Given the description of an element on the screen output the (x, y) to click on. 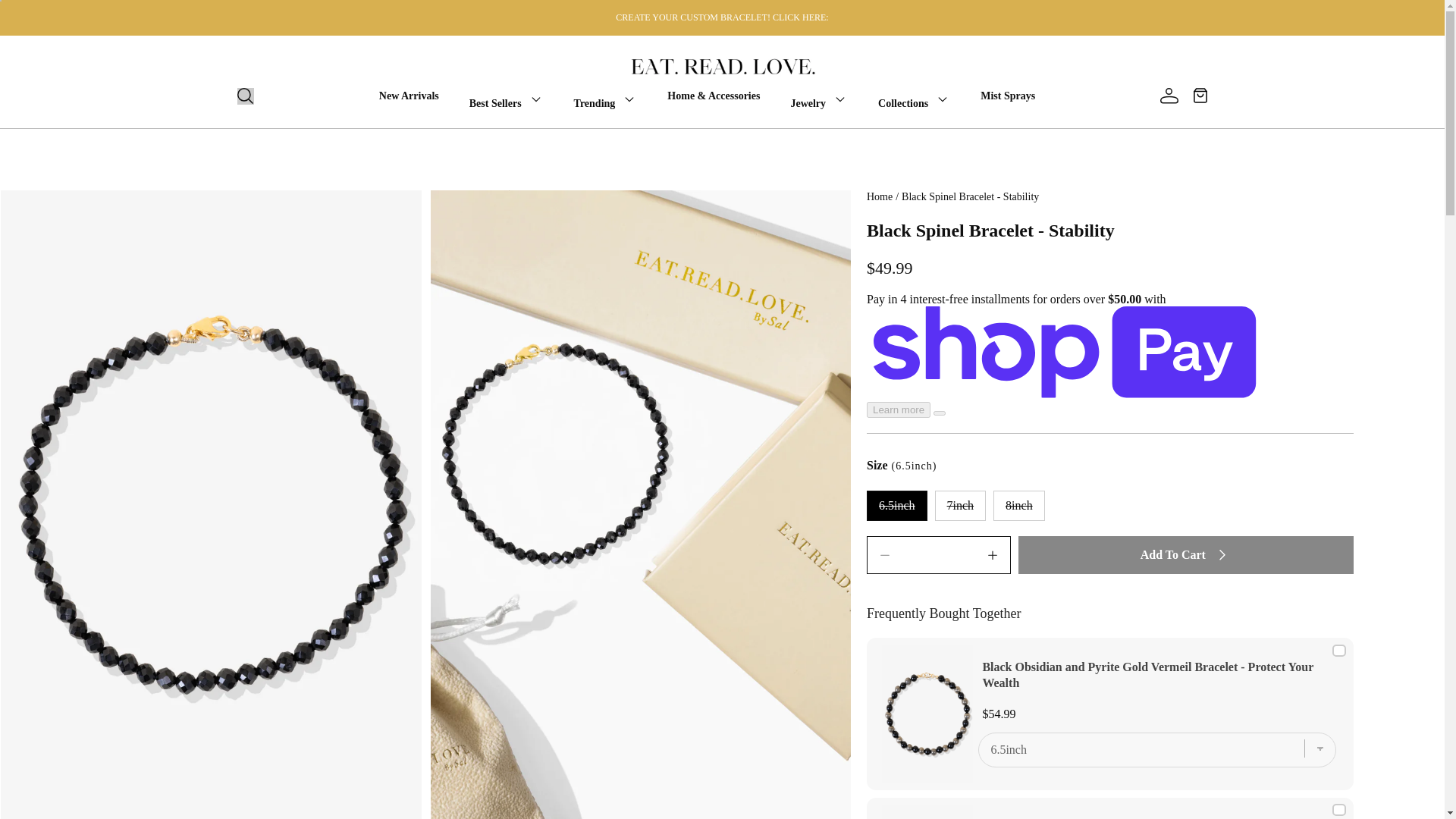
New Arrivals (409, 95)
on (1338, 650)
CREATE YOUR CUSTOM BRACELET! CLICK HERE: (721, 17)
Home (879, 196)
on (1338, 809)
Skip to content (64, 15)
